Given the description of an element on the screen output the (x, y) to click on. 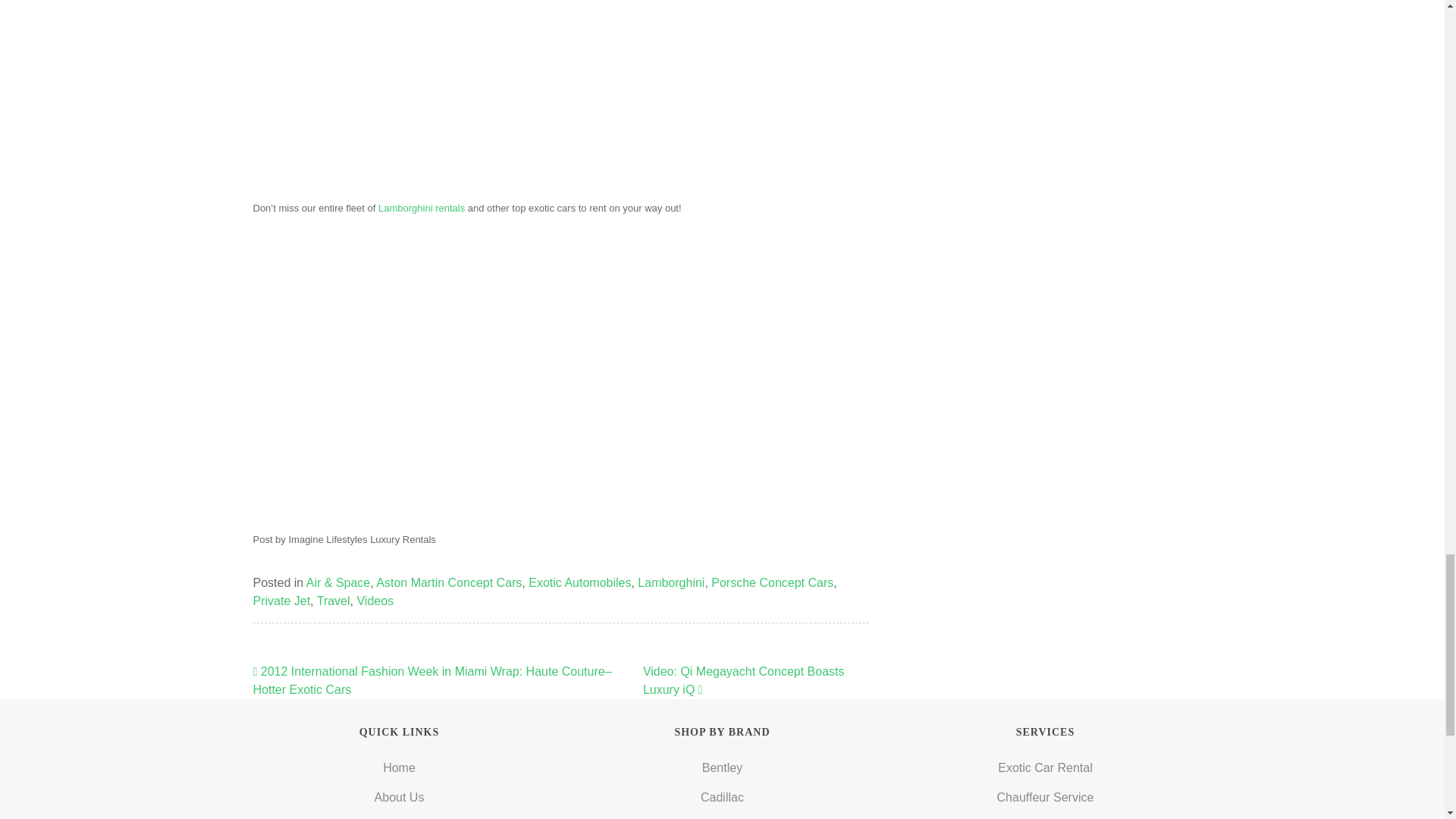
Aston Martin Concept Cars (448, 582)
Videos (374, 600)
Lamborghini (670, 582)
Private Jet (282, 600)
Lamborghini rentals (421, 207)
Exotic Automobiles (579, 582)
Travel (333, 600)
Porsche Concept Cars (771, 582)
